Given the description of an element on the screen output the (x, y) to click on. 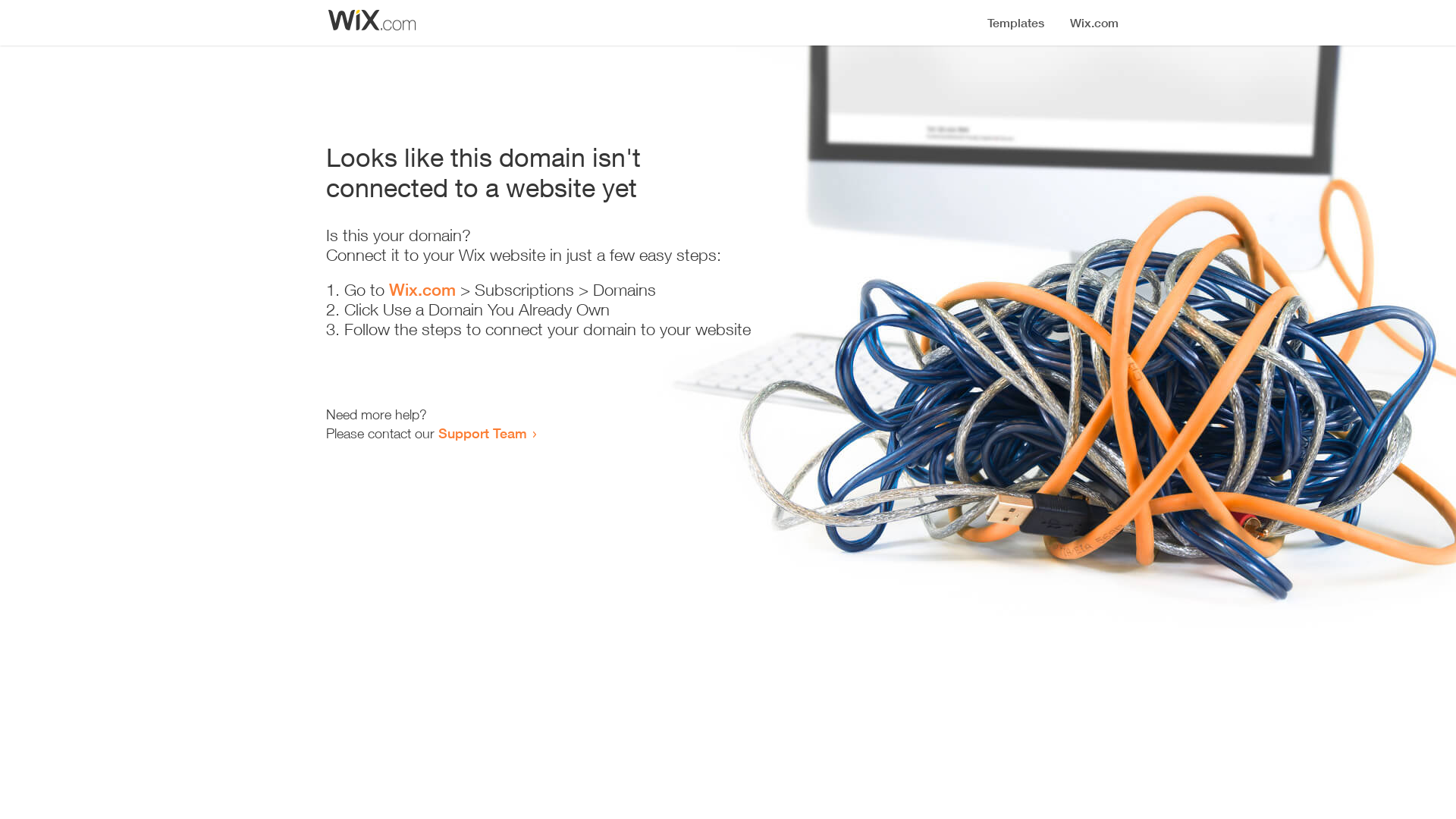
Wix.com Element type: text (422, 289)
Support Team Element type: text (482, 432)
